Given the description of an element on the screen output the (x, y) to click on. 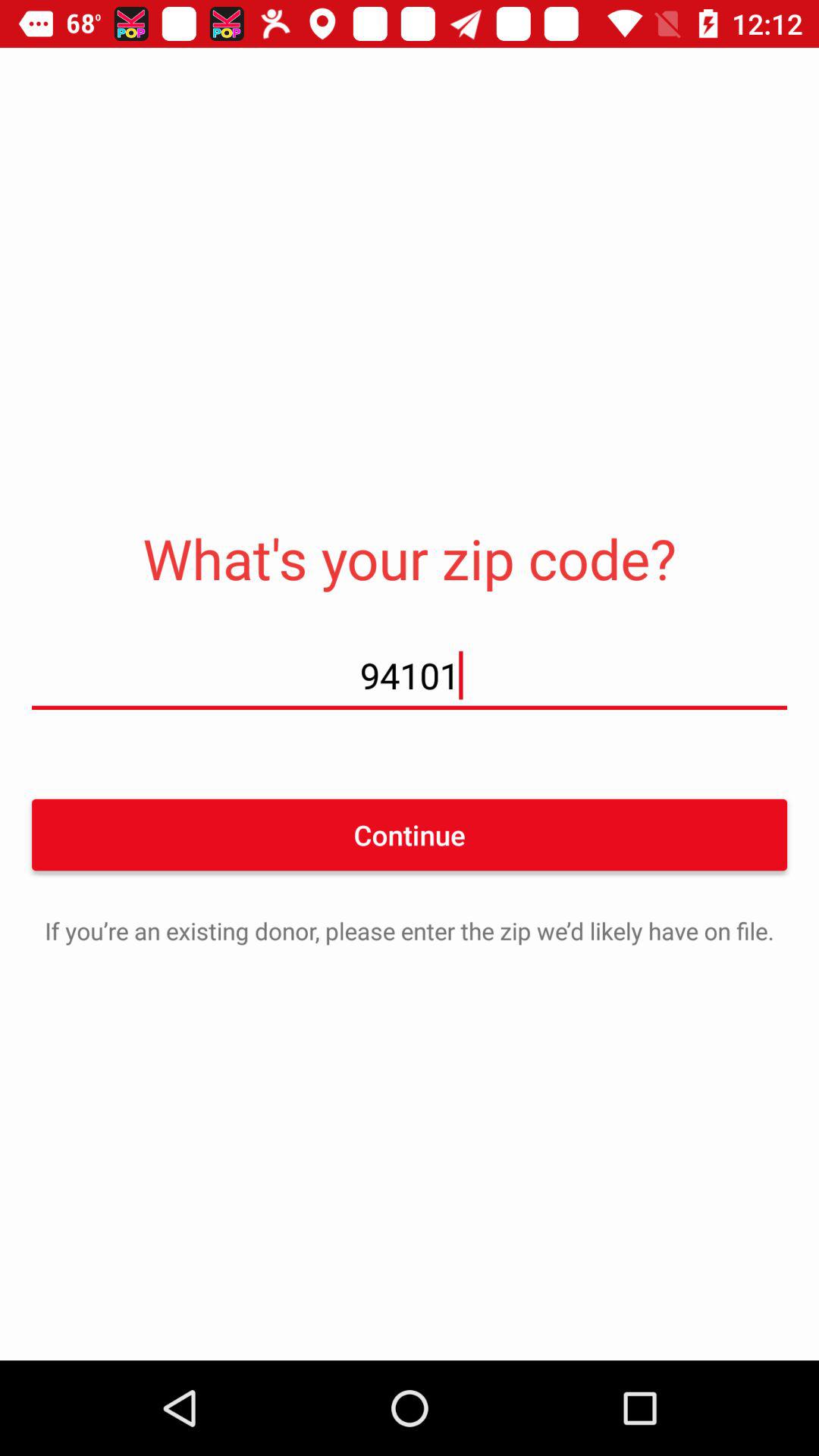
press item above if you re icon (409, 834)
